Given the description of an element on the screen output the (x, y) to click on. 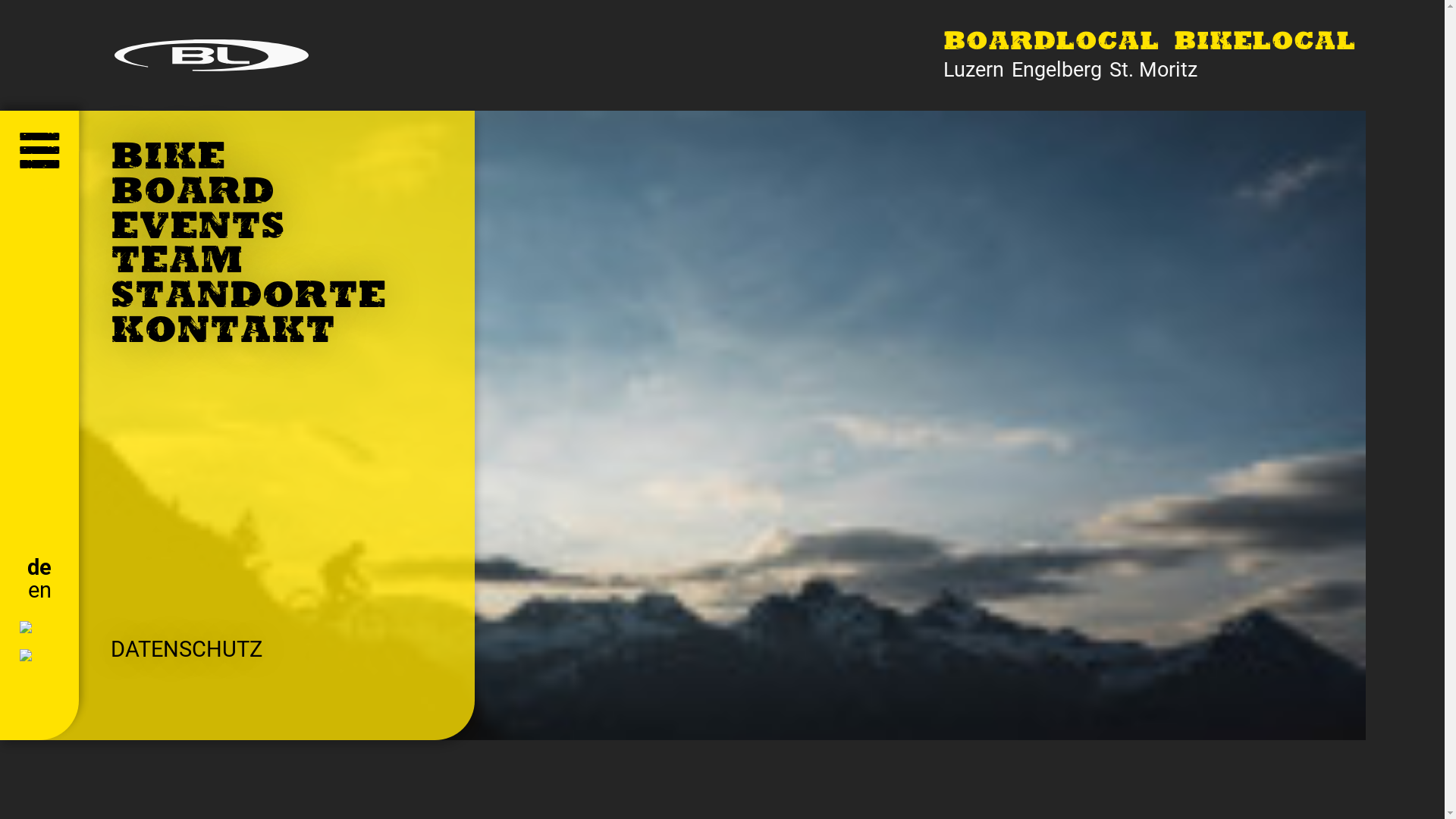
DATENSCHUTZ Element type: text (186, 649)
BOARDLOCAL BIKELOCAL Element type: text (1149, 43)
KONTAKT Element type: text (222, 332)
BOARD Element type: text (192, 194)
de Element type: text (39, 567)
en Element type: text (39, 590)
STANDORTE Element type: text (247, 298)
EVENTS Element type: text (197, 229)
TEAM Element type: text (176, 263)
BIKE Element type: text (167, 159)
